Given the description of an element on the screen output the (x, y) to click on. 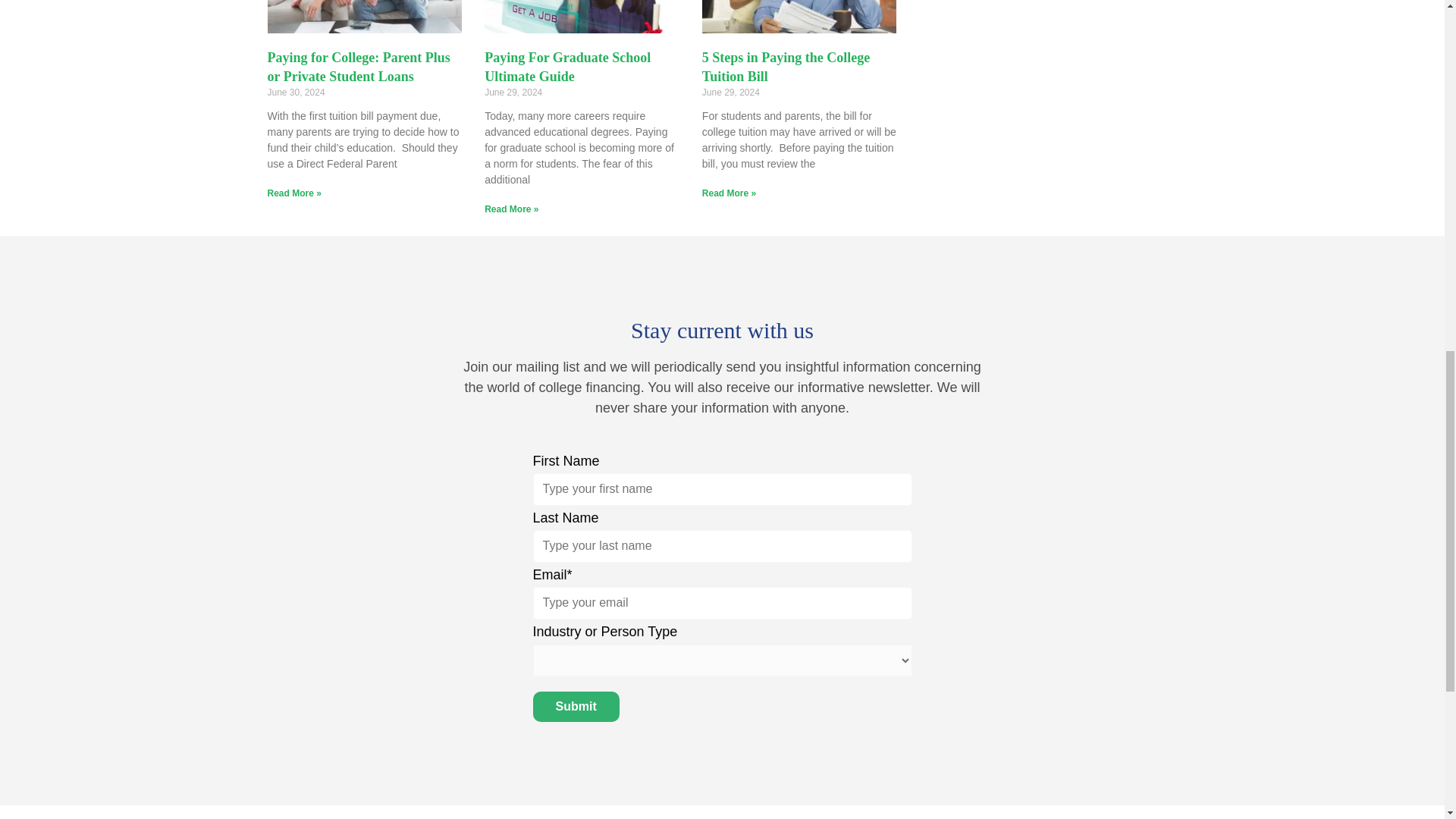
5 Steps in Paying the College Tuition Bill (785, 66)
Paying for College: Parent Plus or Private Student Loans (357, 66)
Paying For Graduate School Ultimate Guide (567, 66)
